Given the description of an element on the screen output the (x, y) to click on. 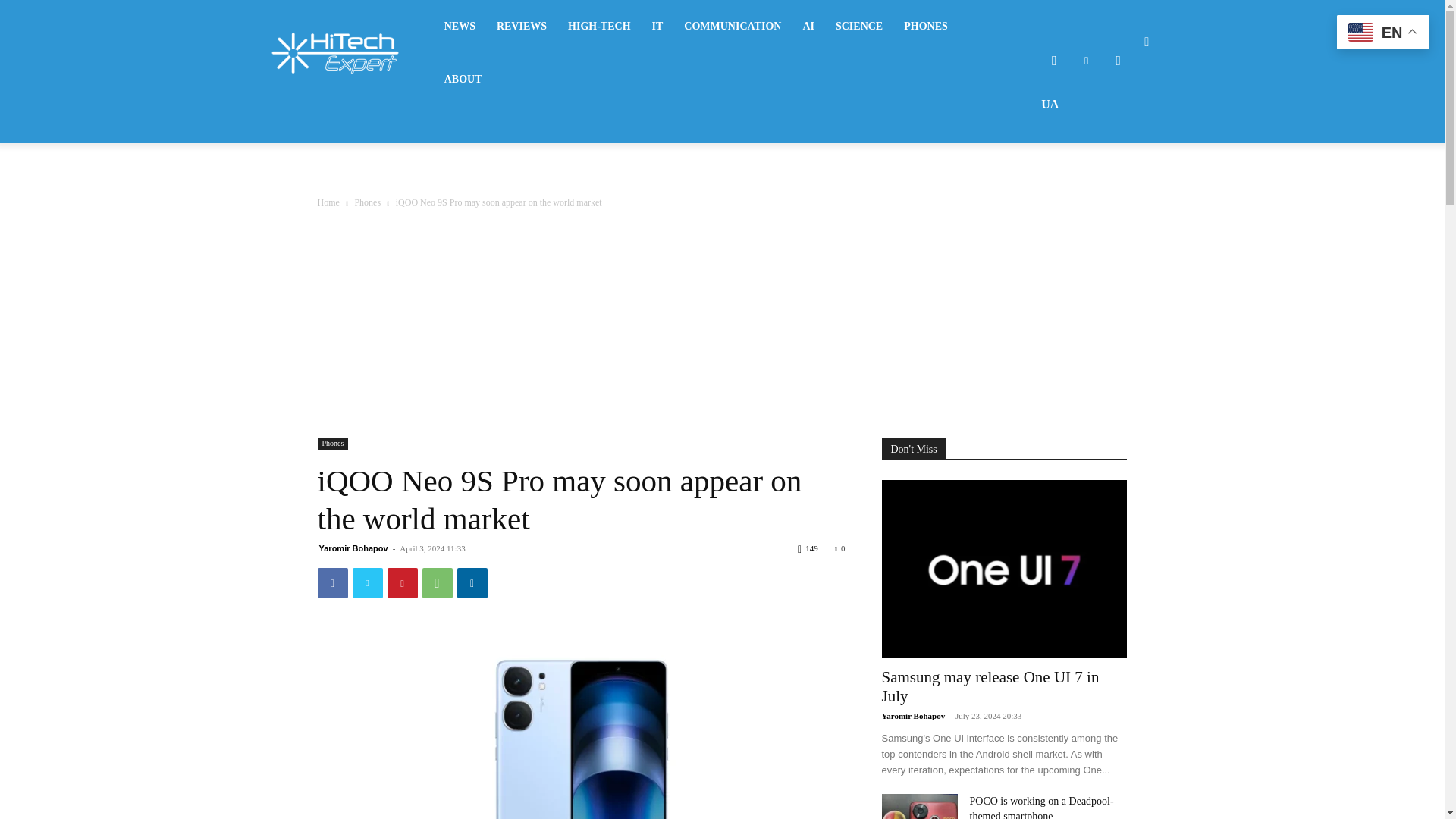
Twitter (366, 583)
Pinterest (401, 583)
View all posts in Phones (366, 202)
Facebook (332, 583)
Facebook (1054, 60)
Youtube (1118, 60)
Twitter (1086, 60)
